Given the description of an element on the screen output the (x, y) to click on. 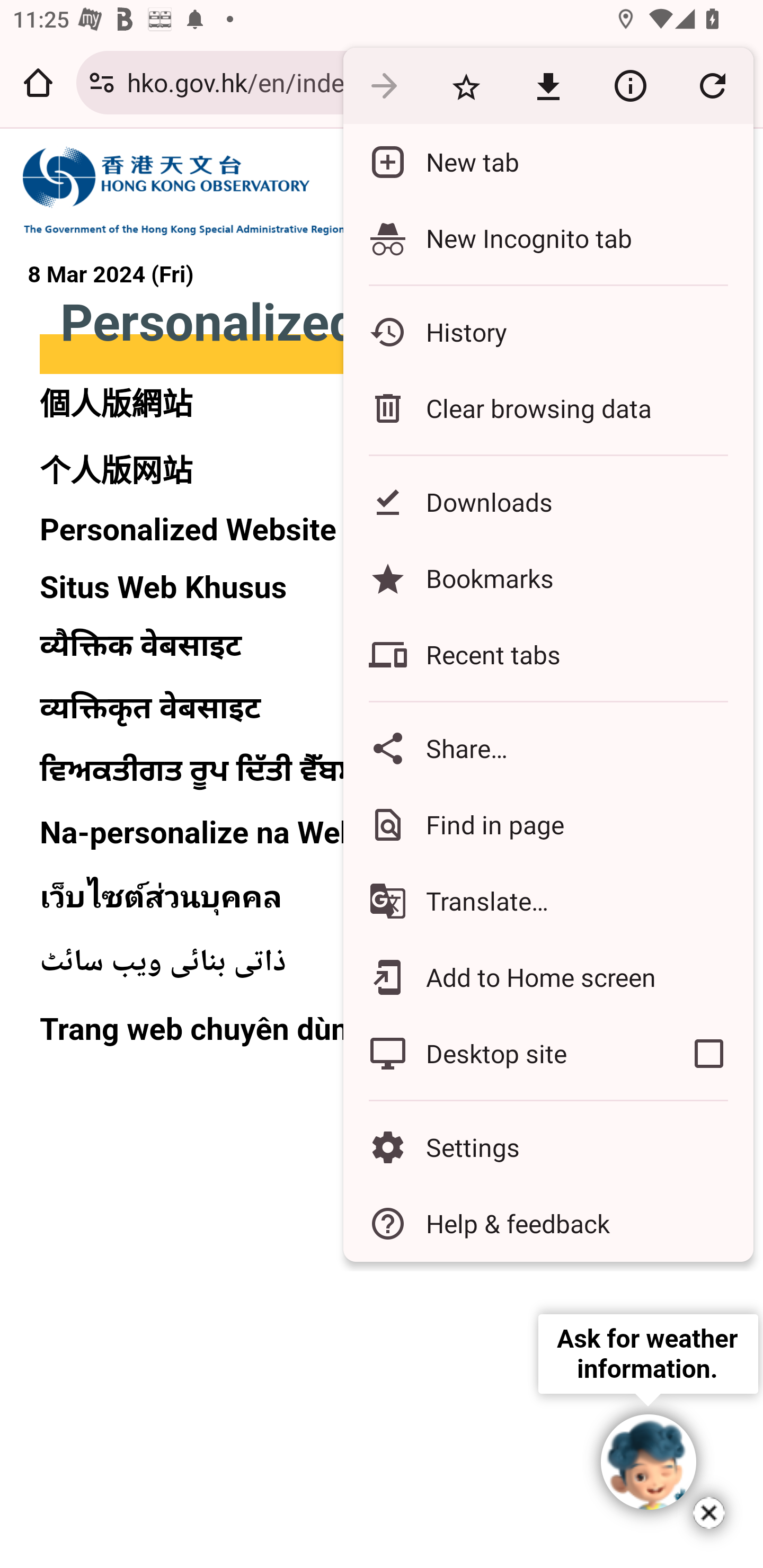
Forward (383, 85)
Bookmark (465, 85)
Download (548, 85)
Page info (630, 85)
Refresh (712, 85)
New tab (548, 161)
New Incognito tab (548, 237)
History (548, 332)
Clear browsing data (548, 408)
Downloads (548, 502)
Bookmarks (548, 578)
Recent tabs (548, 654)
Share… (548, 748)
Find in page (548, 824)
Translate… (548, 900)
Add to Home screen (548, 977)
Desktop site Turn on Request desktop site (503, 1053)
Settings (548, 1146)
Help & feedback (548, 1223)
